Given the description of an element on the screen output the (x, y) to click on. 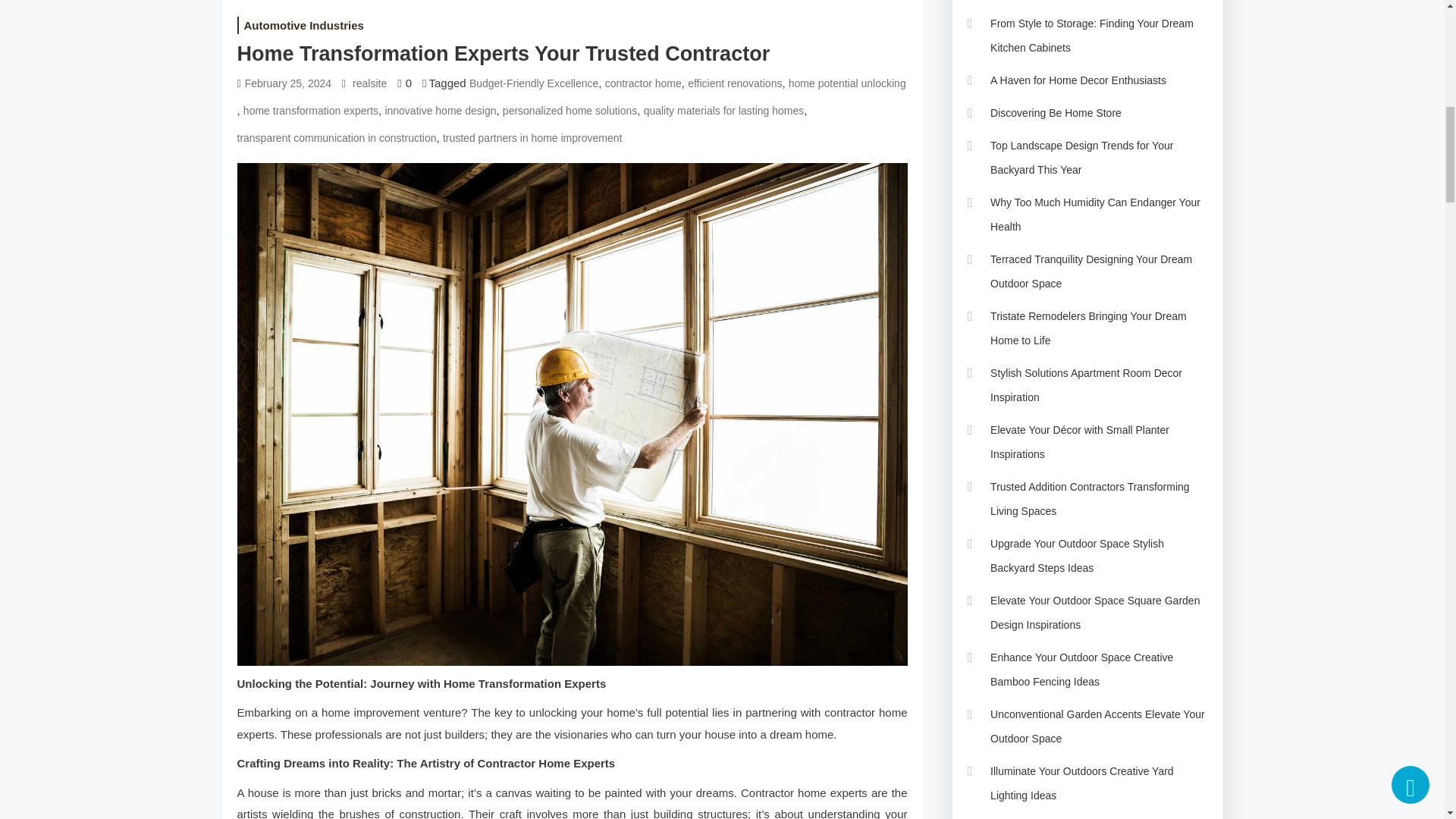
Automotive Industries (302, 25)
Budget-Friendly Excellence (533, 82)
realsite (369, 82)
efficient renovations (734, 82)
contractor home (643, 82)
February 25, 2024 (287, 82)
